Given the description of an element on the screen output the (x, y) to click on. 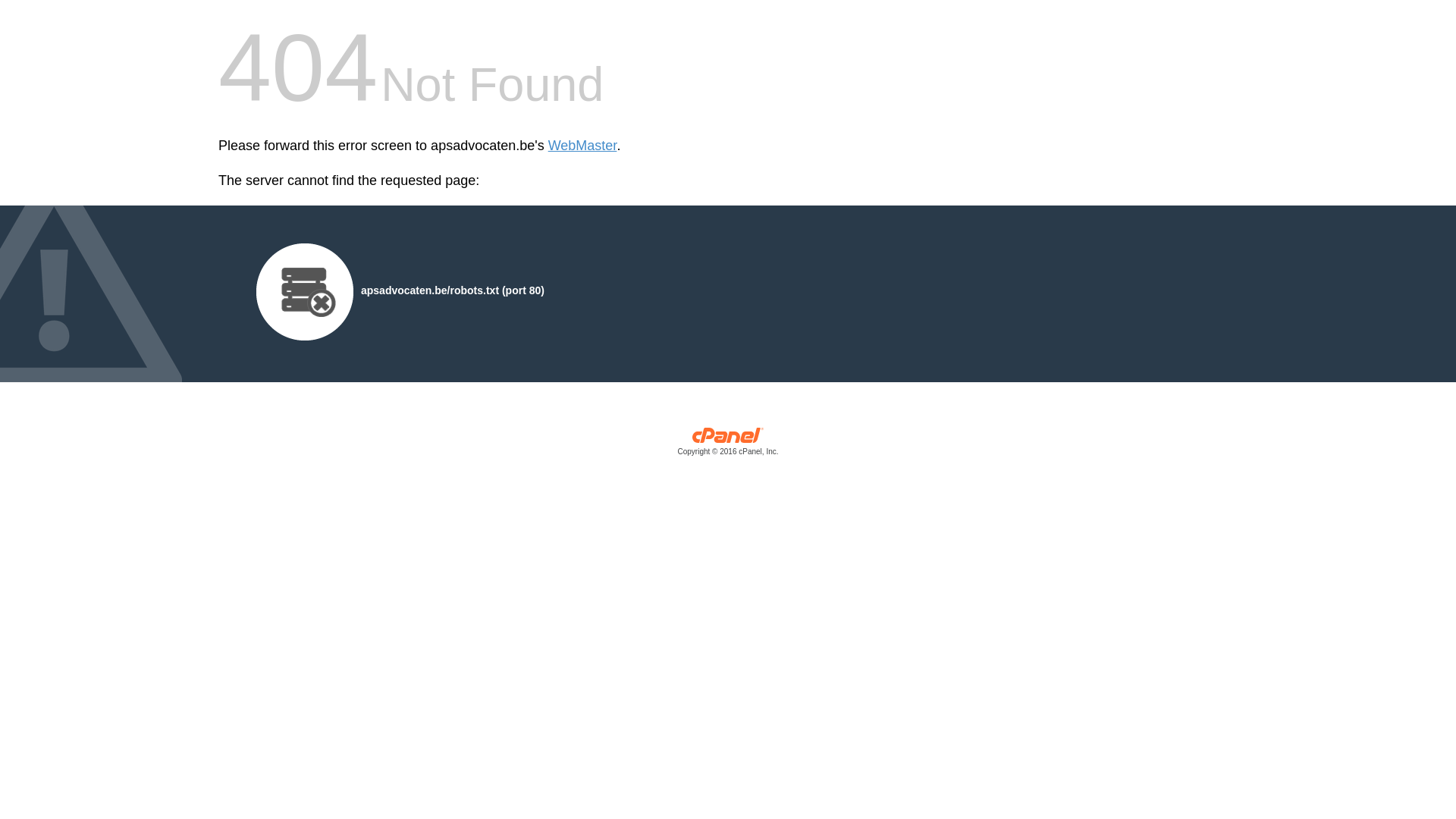
WebMaster Element type: text (582, 145)
